Given the description of an element on the screen output the (x, y) to click on. 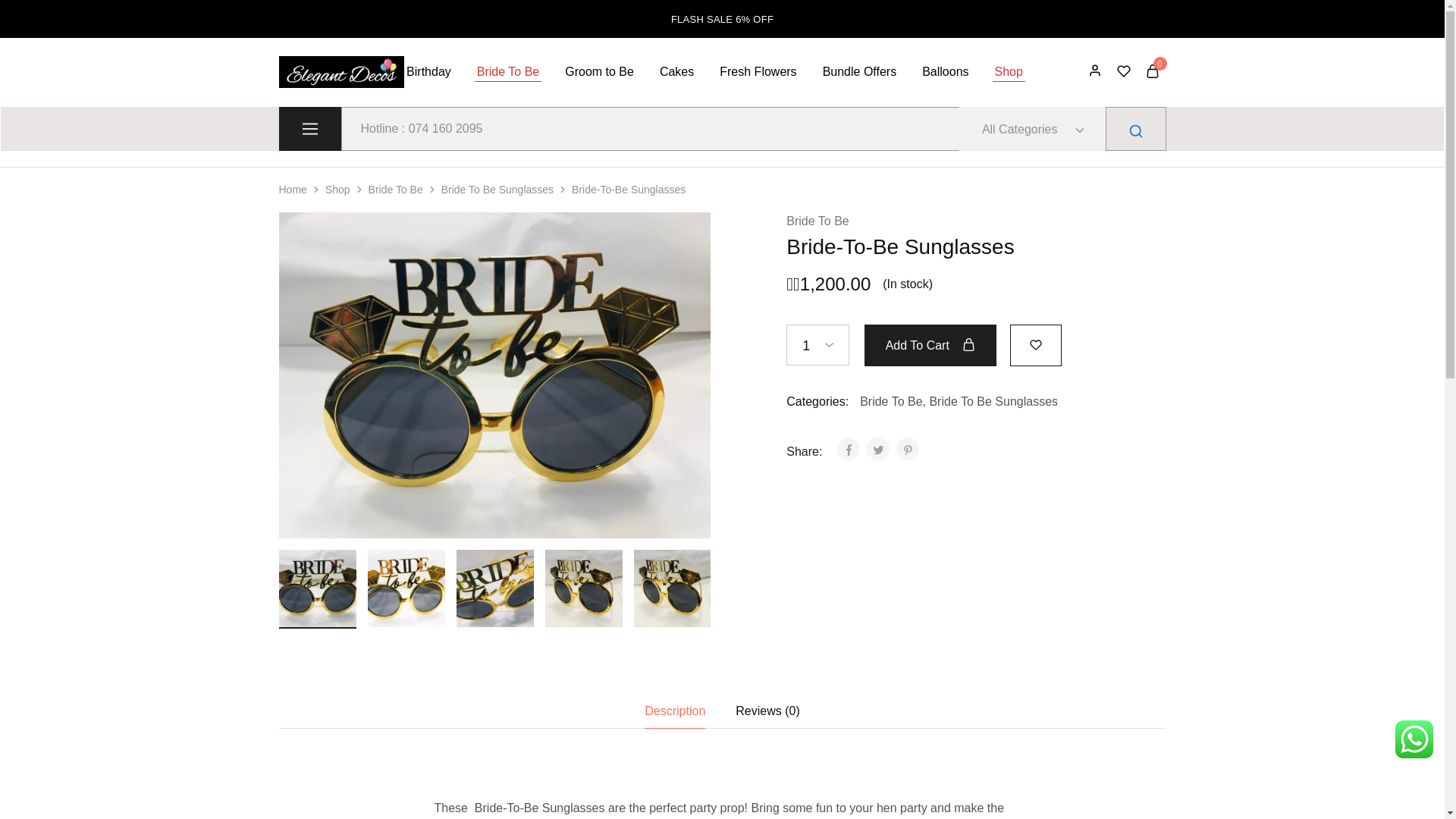
Groom to Be (599, 71)
Birthday (428, 71)
Bride To Be (507, 71)
Elegant Decos (298, 83)
